Given the description of an element on the screen output the (x, y) to click on. 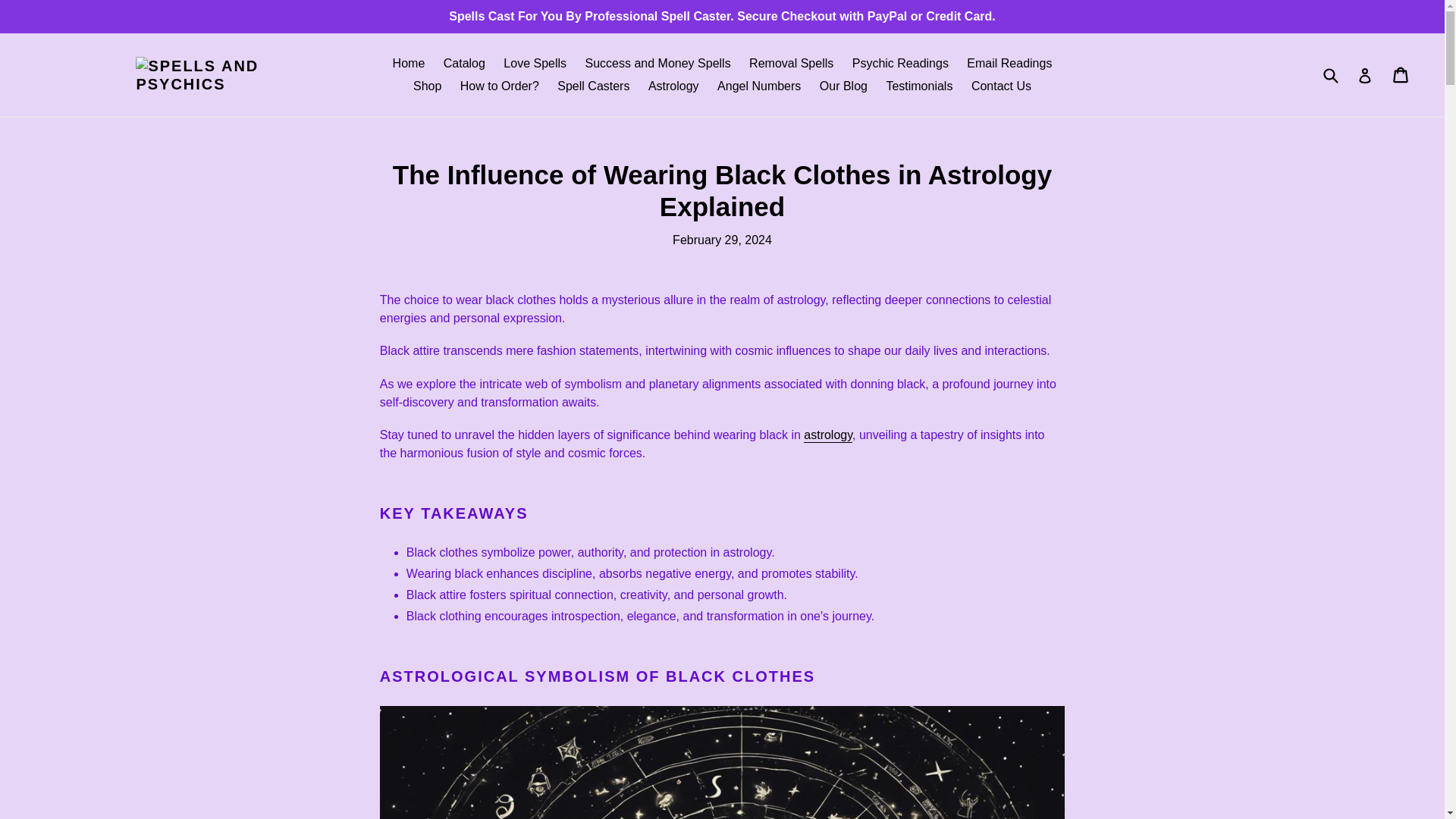
Contact Us (1001, 86)
Shop (427, 86)
Removal Spells (791, 63)
Home (408, 63)
astrology (827, 435)
Email Readings (1009, 63)
Astrology (673, 86)
Love Spells (534, 63)
Catalog (464, 63)
Testimonials (918, 86)
